Given the description of an element on the screen output the (x, y) to click on. 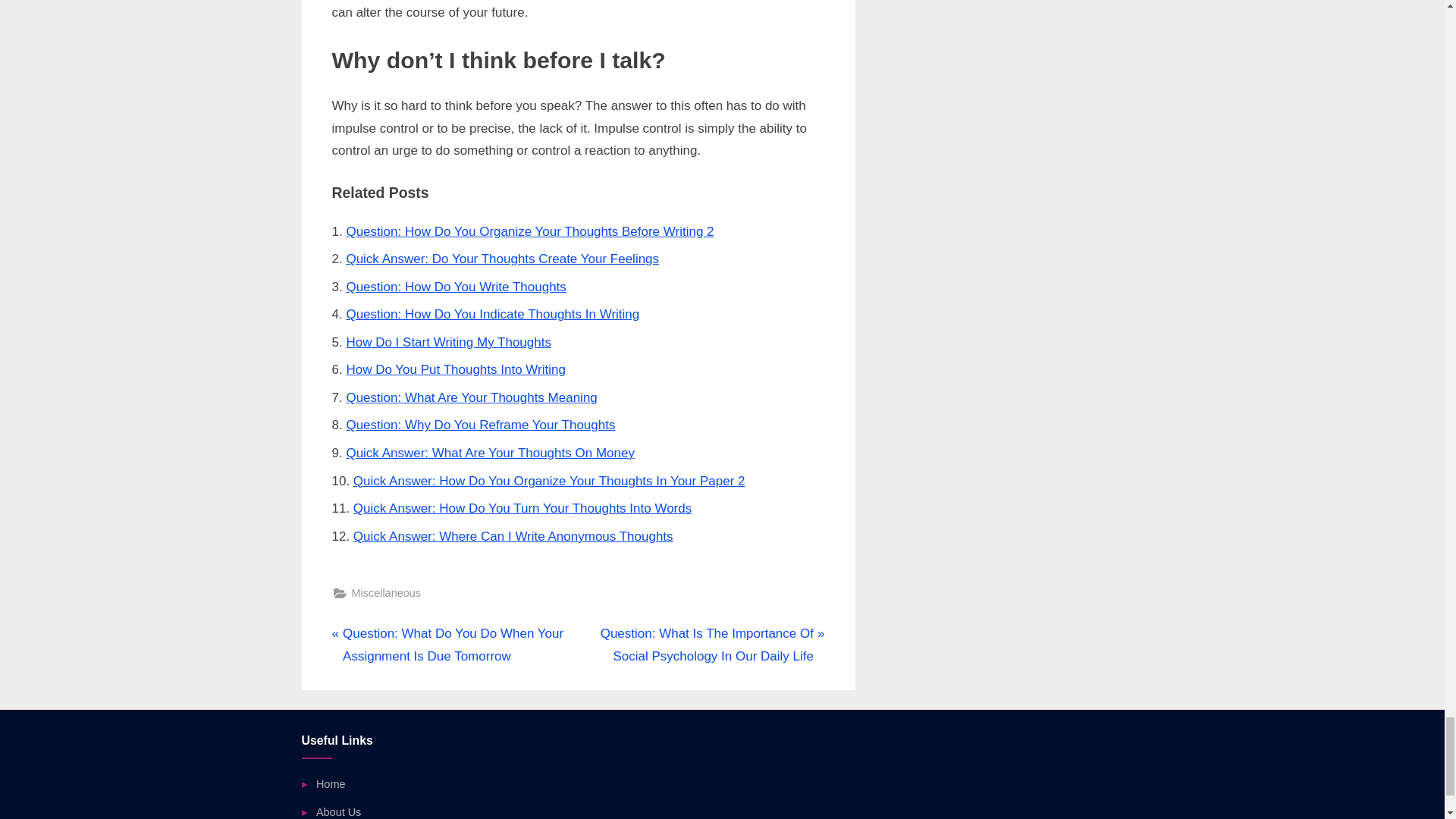
How Do You Put Thoughts Into Writing (456, 369)
Question: How Do You Organize Your Thoughts Before Writing 2 (529, 231)
Question: How Do You Indicate Thoughts In Writing (492, 314)
How Do I Start Writing My Thoughts (448, 341)
Quick Answer: How Do You Turn Your Thoughts Into Words (522, 508)
Question: Why Do You Reframe Your Thoughts (480, 424)
Quick Answer: Do Your Thoughts Create Your Feelings (502, 258)
Question: How Do You Write Thoughts (456, 287)
Quick Answer: How Do You Turn Your Thoughts Into Words (522, 508)
